Given the description of an element on the screen output the (x, y) to click on. 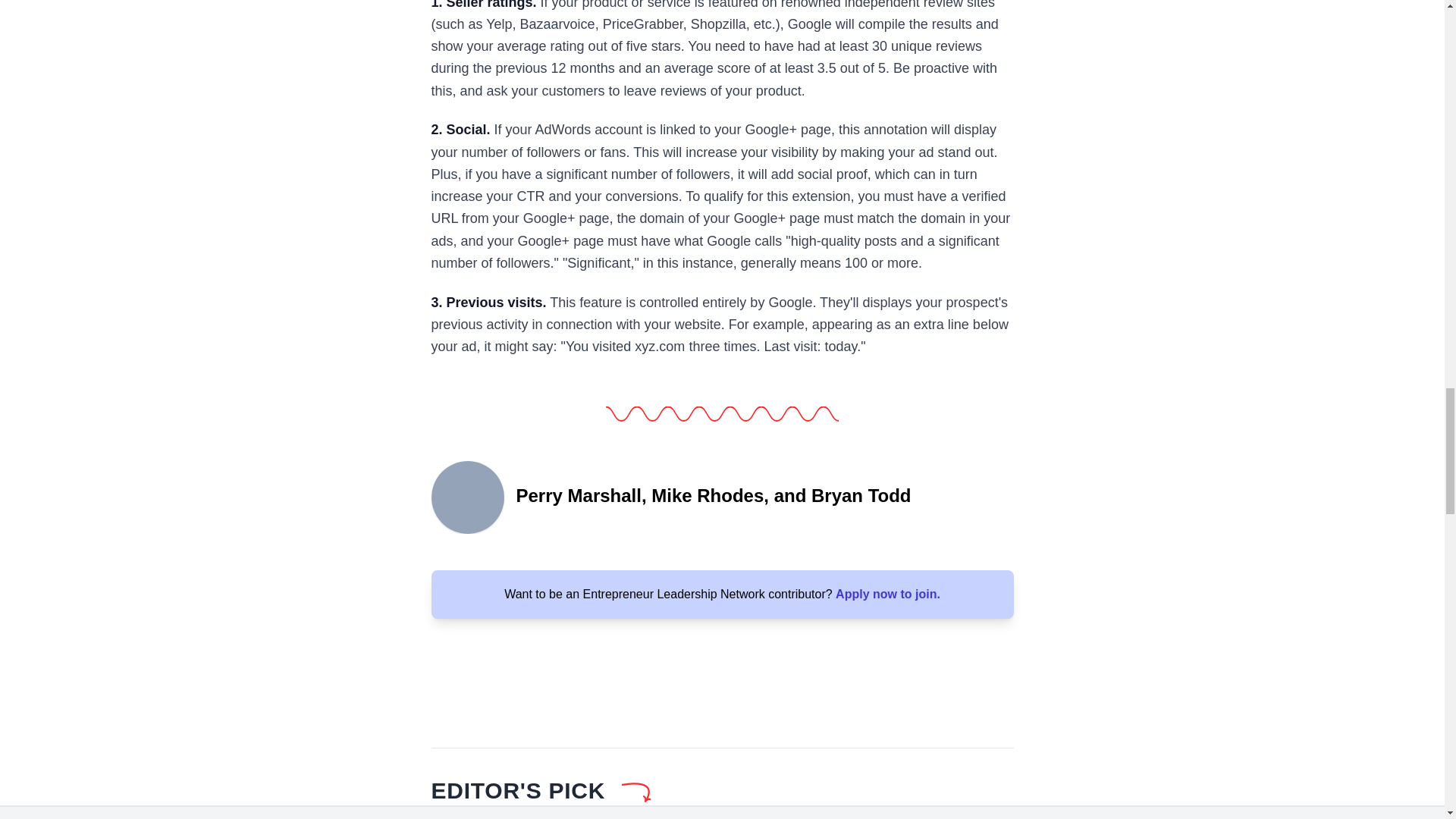
Perry Marshall, Mike Rhodes, and Bryan Todd (466, 495)
